Given the description of an element on the screen output the (x, y) to click on. 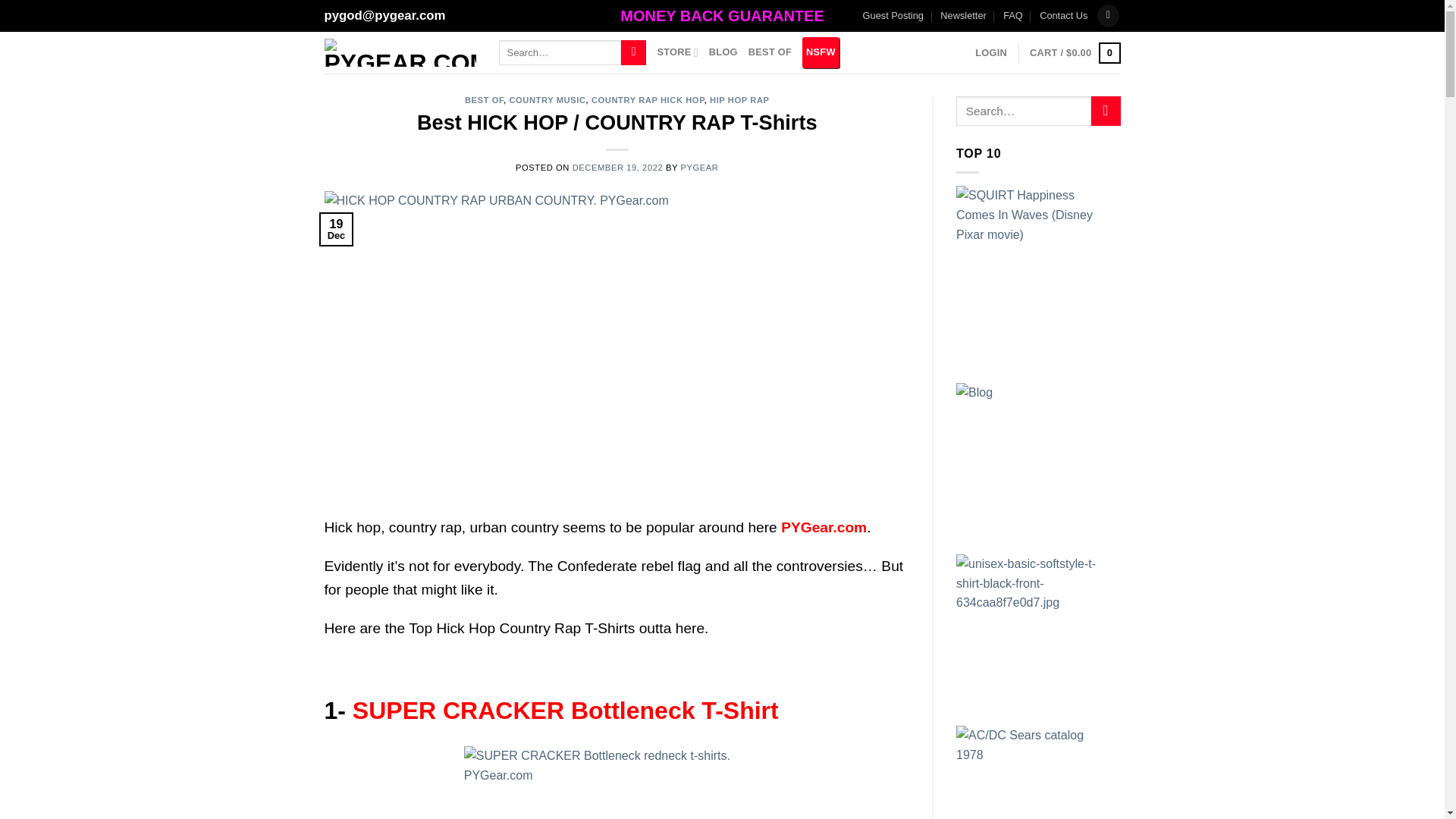
Login (991, 52)
Search (633, 53)
Newsletter (962, 15)
STORE (676, 51)
Contact Us (1063, 15)
Guest Posting (893, 15)
MONEY BACK GUARANTEE (722, 15)
Send us an email (1108, 15)
Cart (1074, 52)
PYGear.com - As Worn By T-Shirts (400, 52)
